Given the description of an element on the screen output the (x, y) to click on. 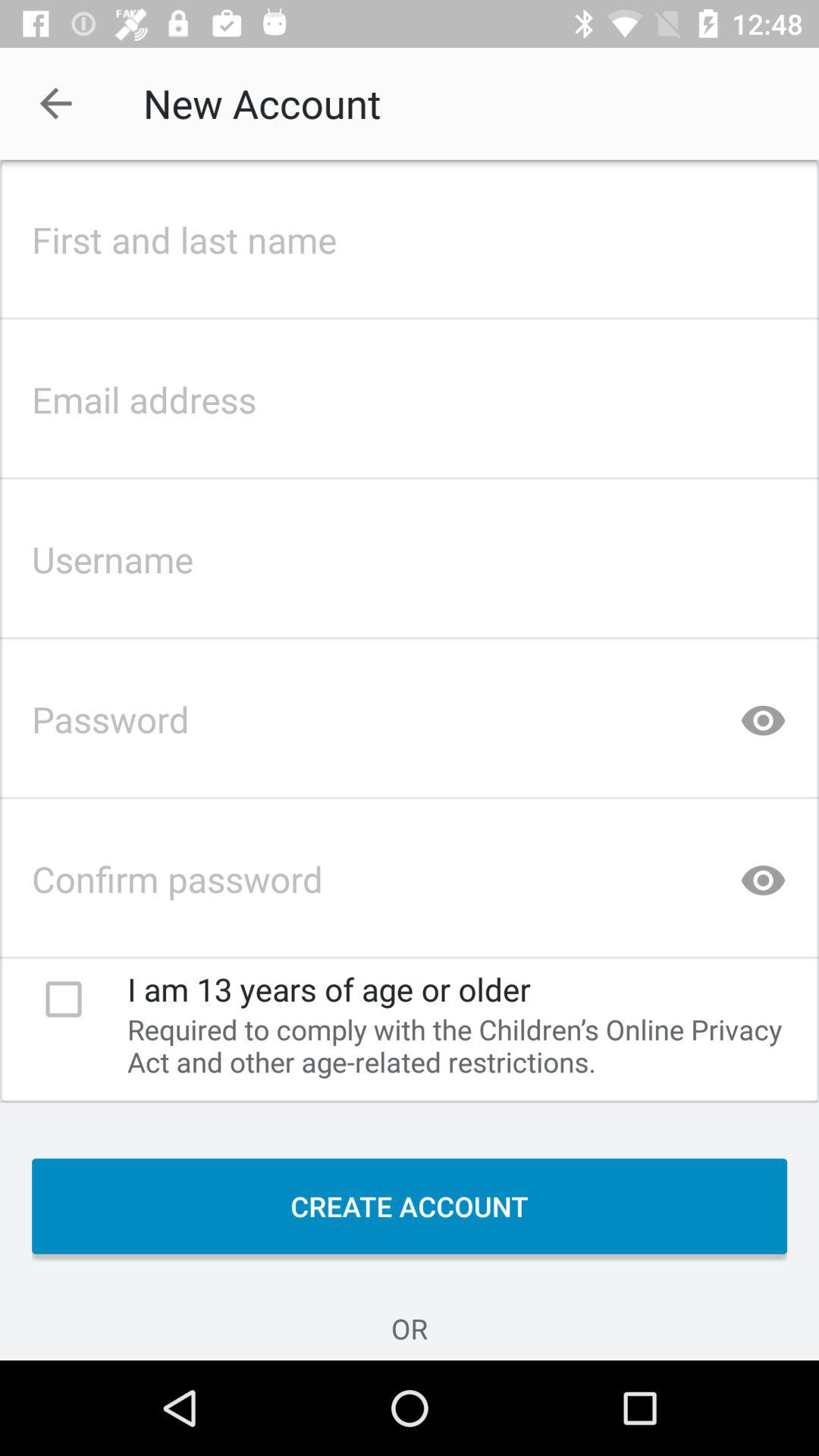
tap the item above or icon (409, 1206)
